Given the description of an element on the screen output the (x, y) to click on. 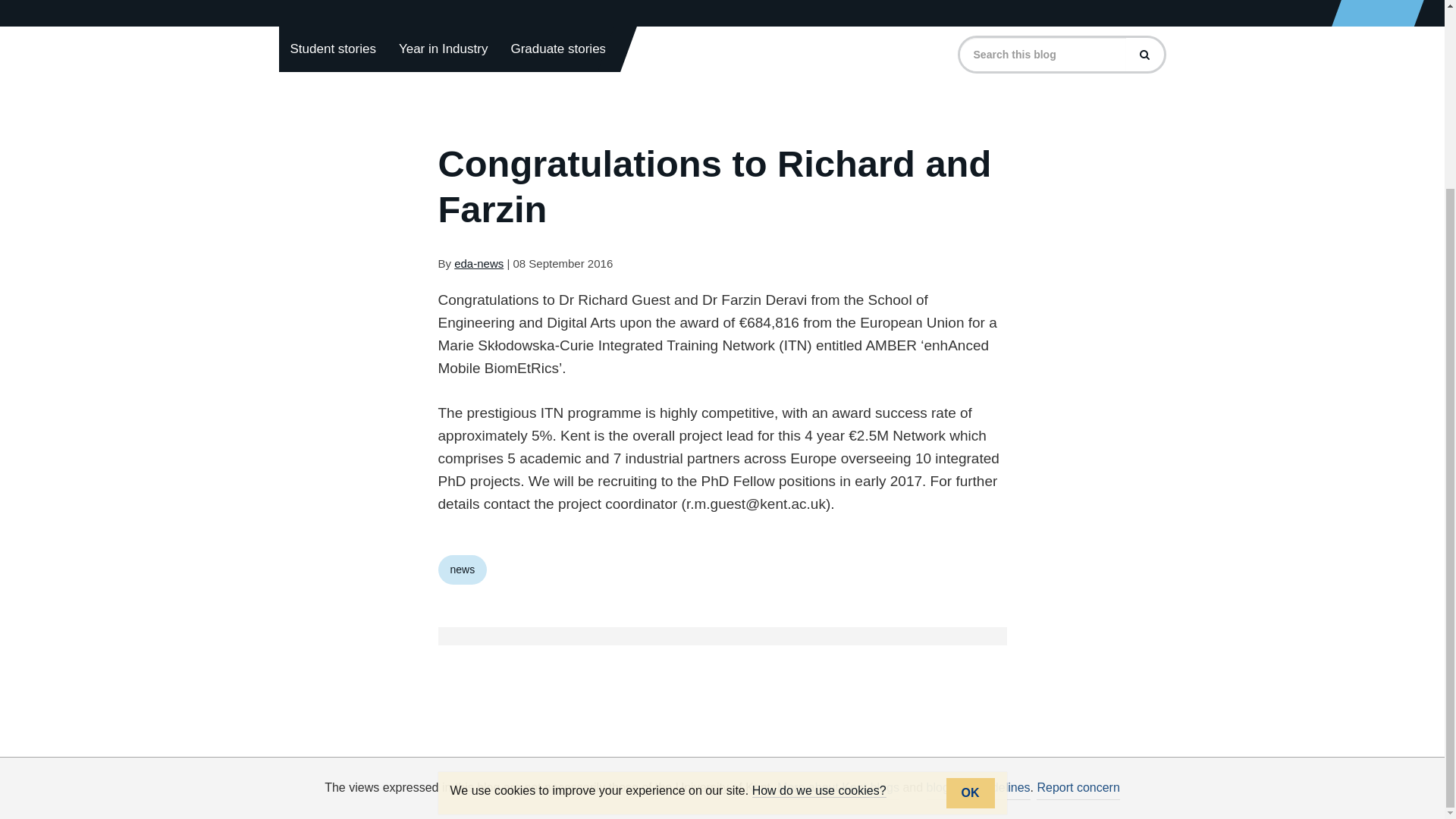
news (462, 569)
eda-news (478, 263)
OK (970, 557)
Year in Industry (443, 49)
blogging guidelines (978, 788)
Search (1144, 54)
Student stories (333, 49)
How do we use cookies? (819, 555)
Graduate stories (558, 49)
More about Kent blogs (838, 788)
Report concern (1077, 788)
